Given the description of an element on the screen output the (x, y) to click on. 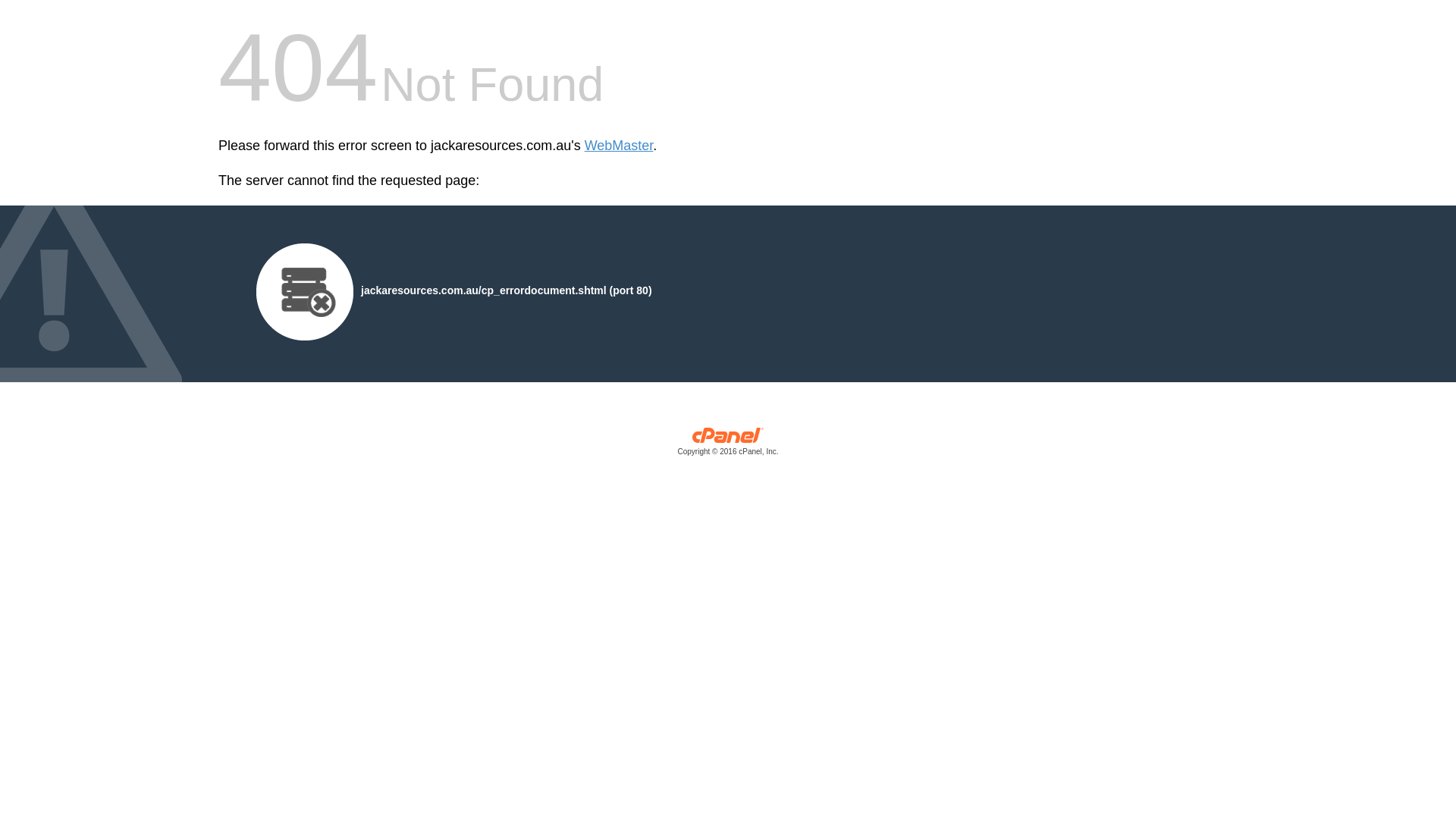
WebMaster Element type: text (618, 145)
